Given the description of an element on the screen output the (x, y) to click on. 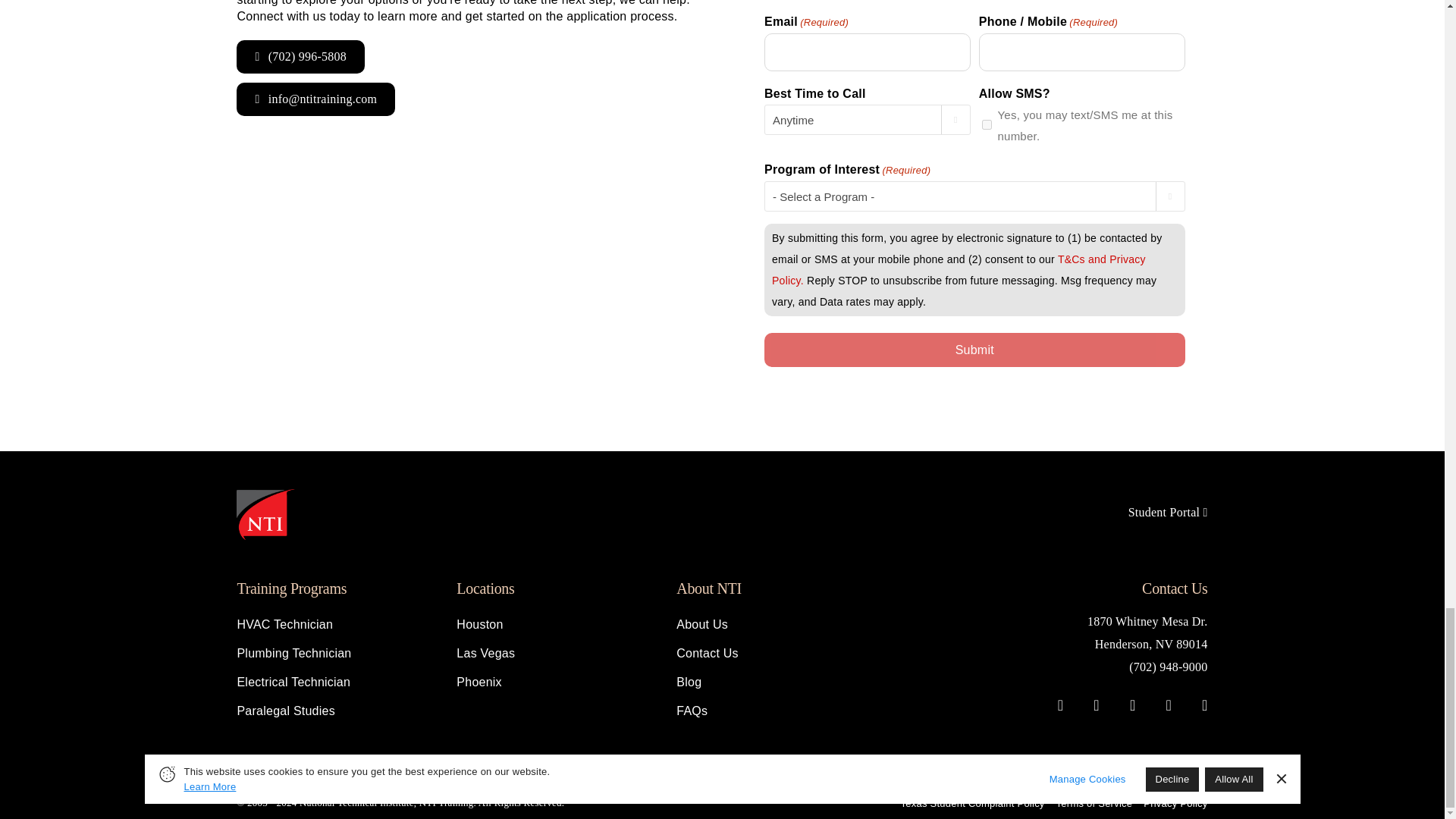
Student Portal Access (1168, 512)
true (986, 124)
Submit (974, 349)
Email Us (314, 99)
Call Us (300, 56)
